Given the description of an element on the screen output the (x, y) to click on. 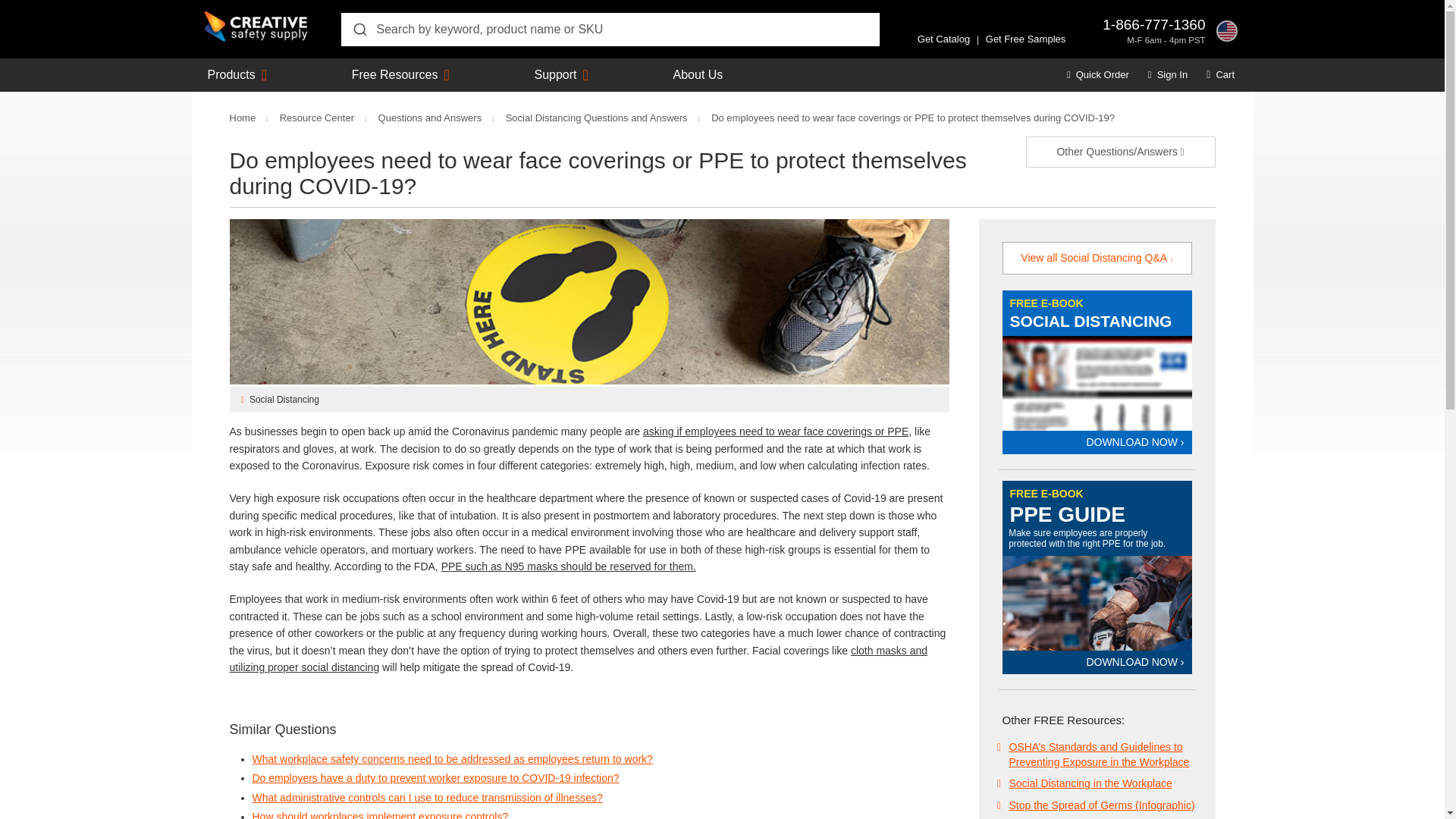
Creative Safety Supply logo (255, 26)
Products (232, 74)
1-866-777-1360 (1153, 24)
Get Catalog (943, 39)
Get Free Samples (1025, 39)
